Given the description of an element on the screen output the (x, y) to click on. 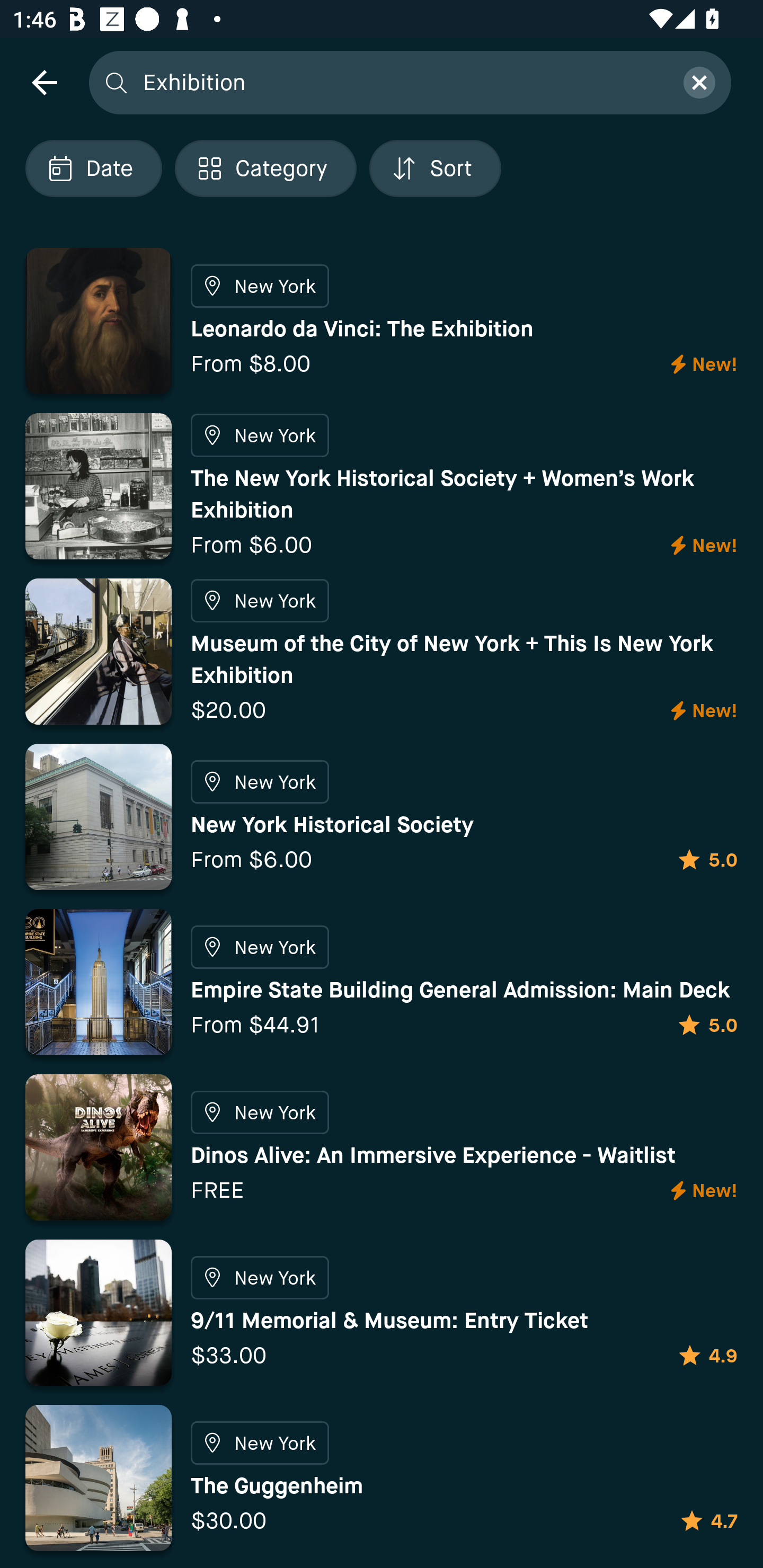
navigation icon (44, 81)
Exhibition (402, 81)
Localized description Date (93, 168)
Localized description Category (265, 168)
Localized description Sort (435, 168)
